Given the description of an element on the screen output the (x, y) to click on. 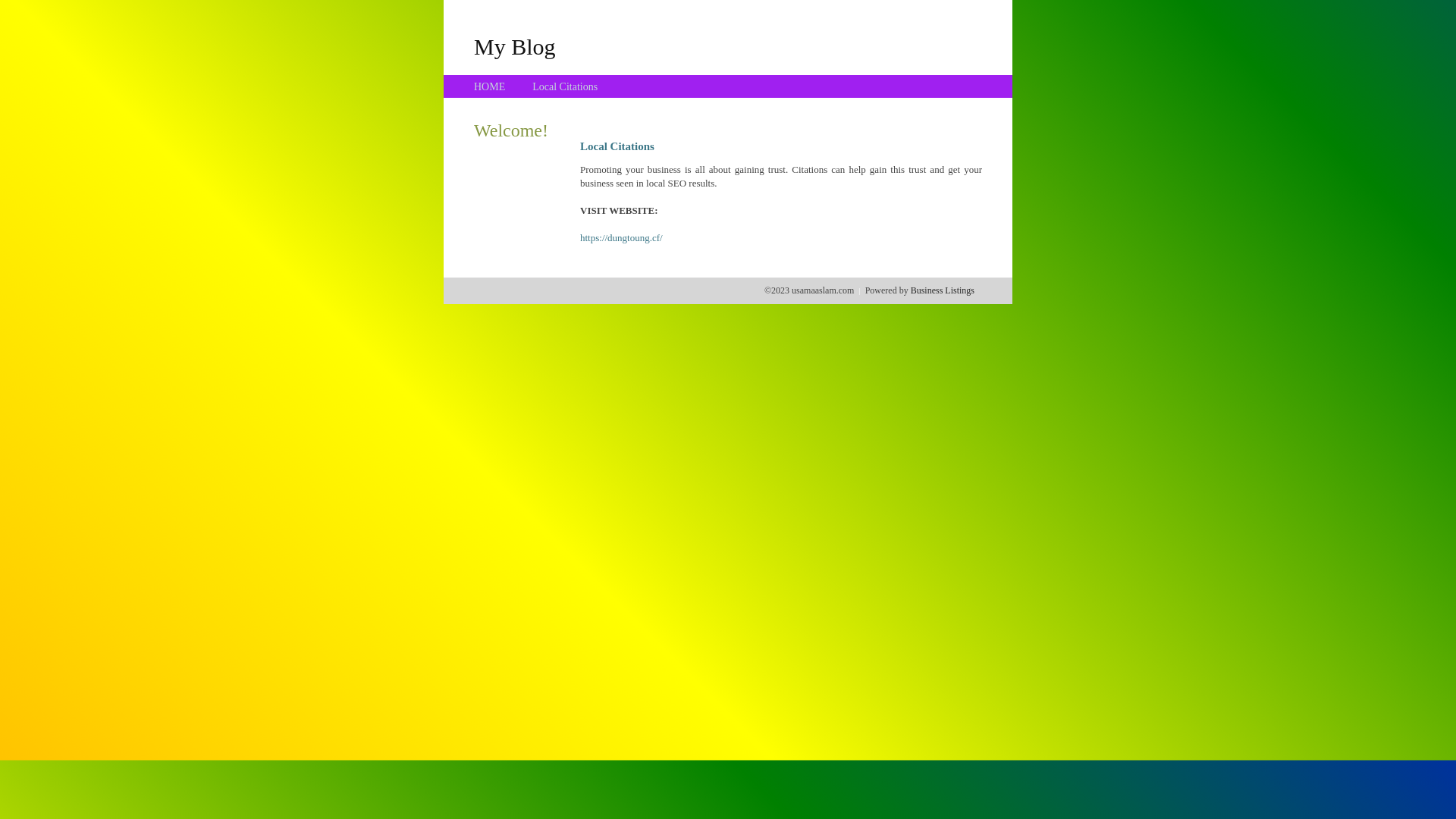
Local Citations Element type: text (564, 86)
HOME Element type: text (489, 86)
My Blog Element type: text (514, 46)
https://dungtoung.cf/ Element type: text (621, 237)
Business Listings Element type: text (942, 290)
